Given the description of an element on the screen output the (x, y) to click on. 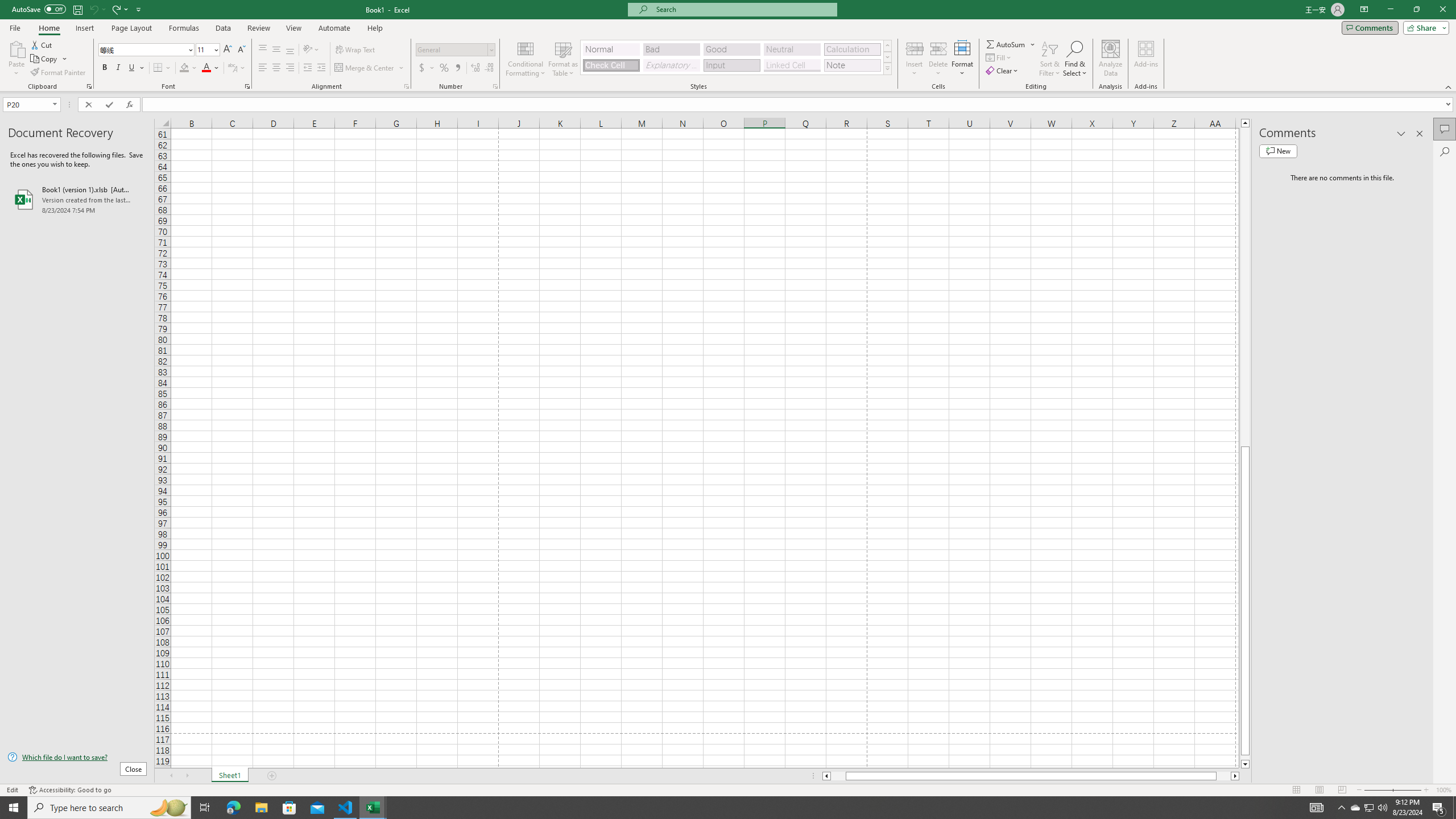
Font (142, 49)
Delete (938, 58)
Explanatory Text (671, 65)
Font Color (210, 67)
